Given the description of an element on the screen output the (x, y) to click on. 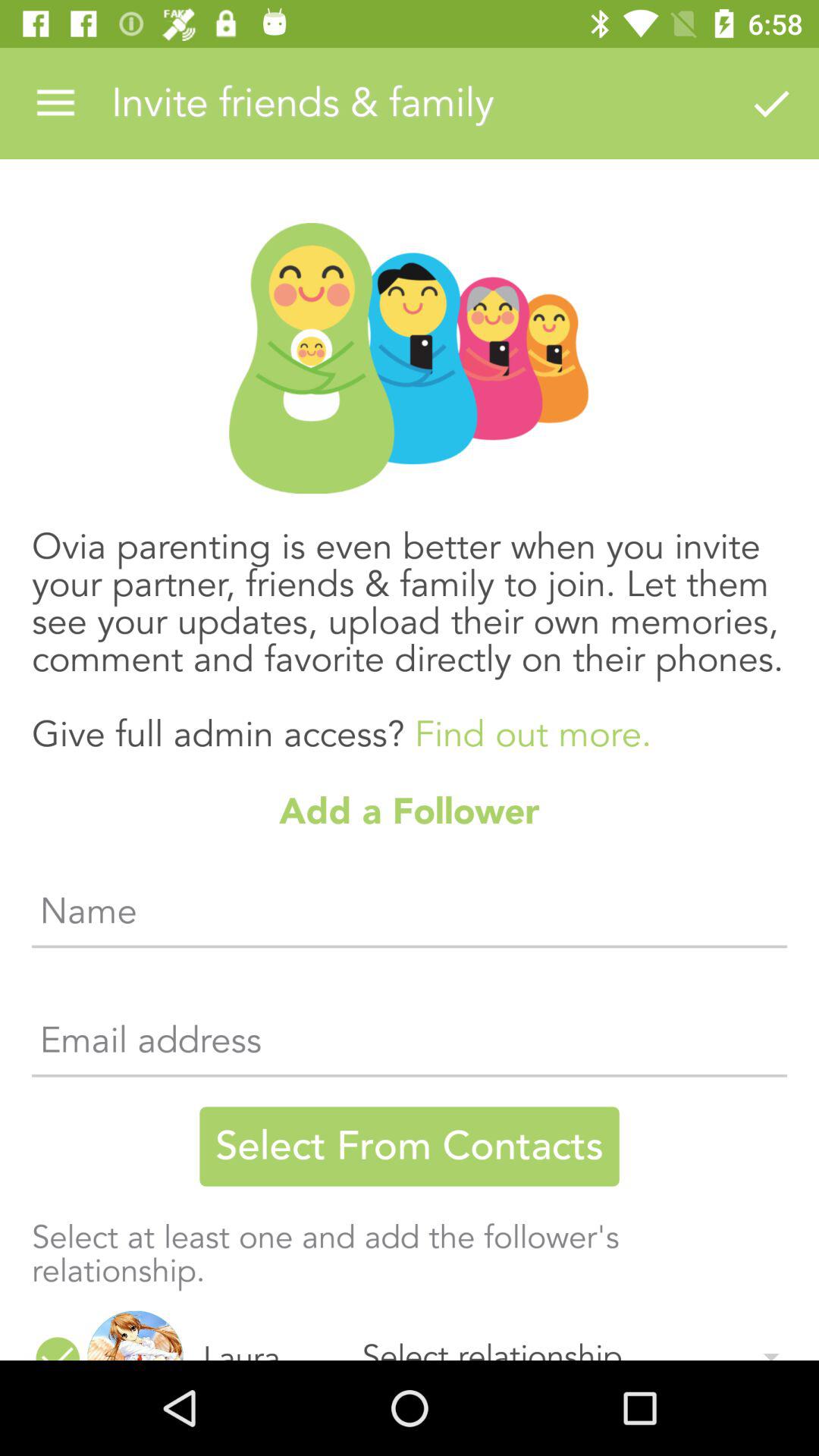
click the item next to the invite friends & family item (55, 103)
